Given the description of an element on the screen output the (x, y) to click on. 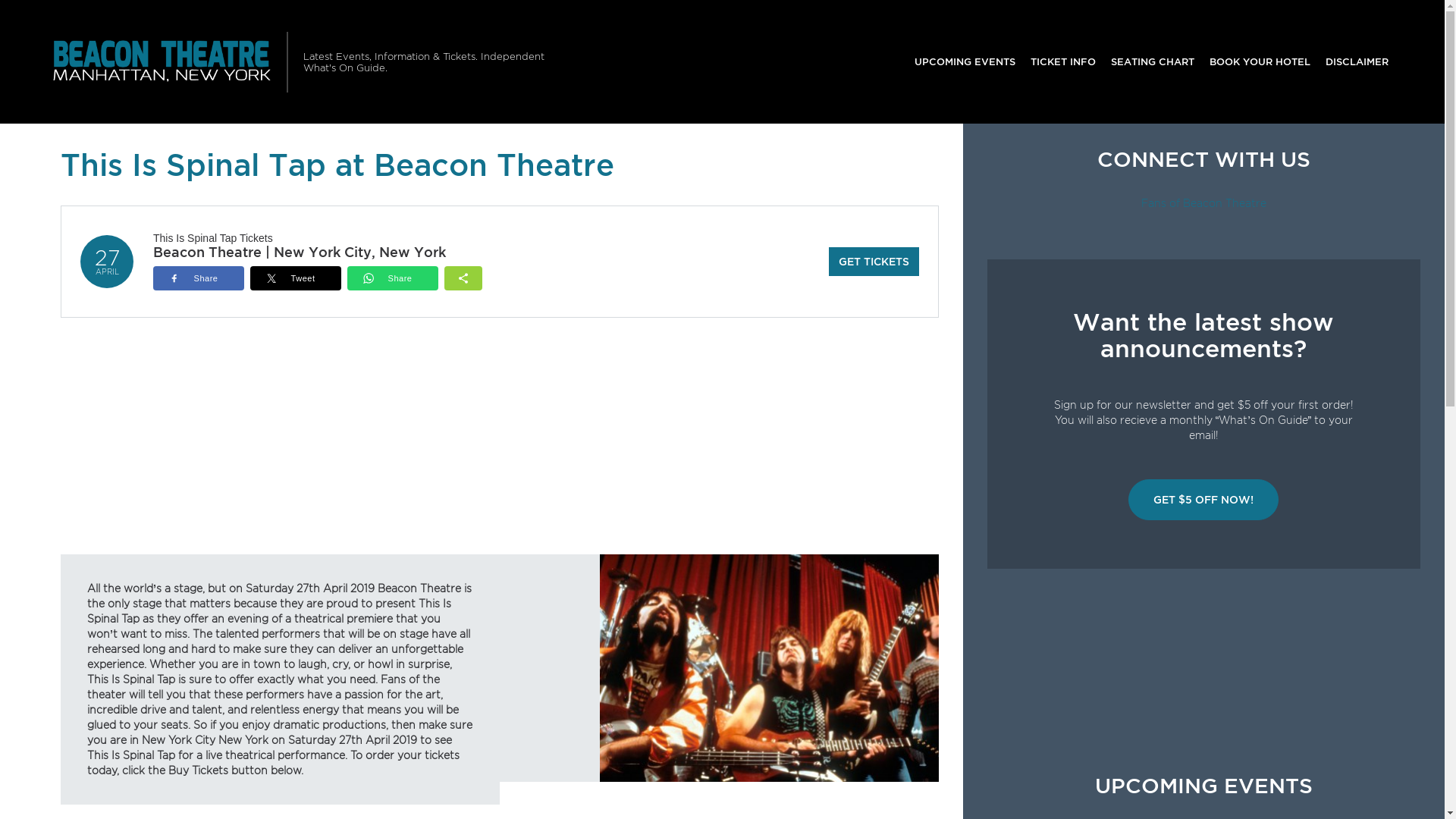
UPCOMING EVENTS Element type: text (964, 61)
DISCLAIMER Element type: text (1356, 61)
Advertisement Element type: hover (499, 447)
SEATING CHART Element type: text (1152, 61)
This Is Spinal Tap at Beacon Theatre Element type: hover (768, 667)
BOOK YOUR HOTEL Element type: text (1259, 61)
This Is Spinal Tap Tickets Element type: text (213, 238)
TICKET INFO Element type: text (1062, 61)
GET $5 OFF NOW! Element type: text (1203, 499)
GET TICKETS Element type: text (873, 261)
Fans of Beacon Theatre Element type: text (1203, 203)
Advertisement Element type: hover (1203, 671)
